Given the description of an element on the screen output the (x, y) to click on. 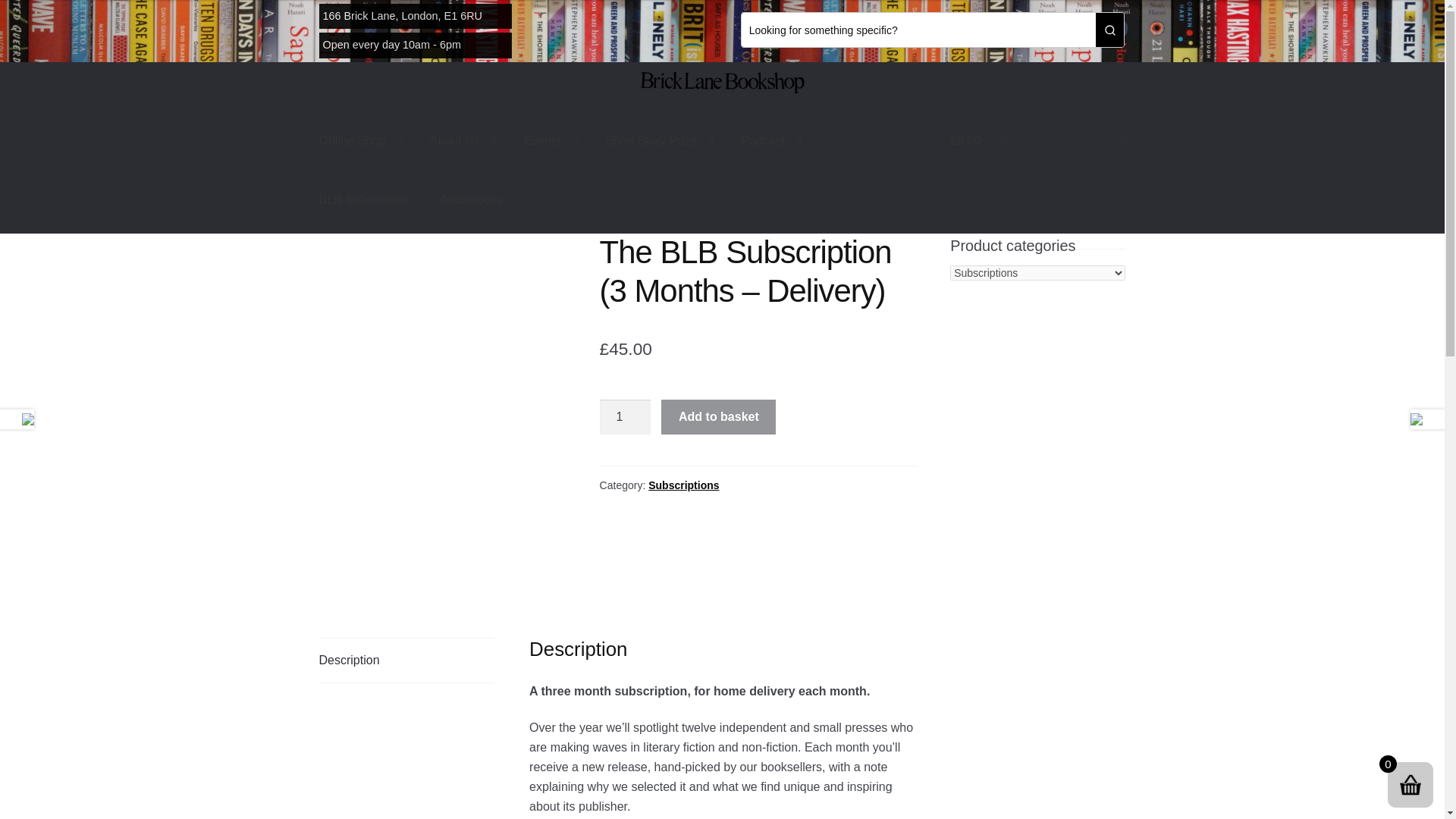
1 (624, 416)
Short Story Prize (658, 140)
Podcast (771, 140)
Looking for something specific? (918, 29)
Events (550, 140)
View your shopping basket (1037, 140)
About Us (462, 140)
Looking for something specific? (918, 29)
Online Shop (360, 140)
